Given the description of an element on the screen output the (x, y) to click on. 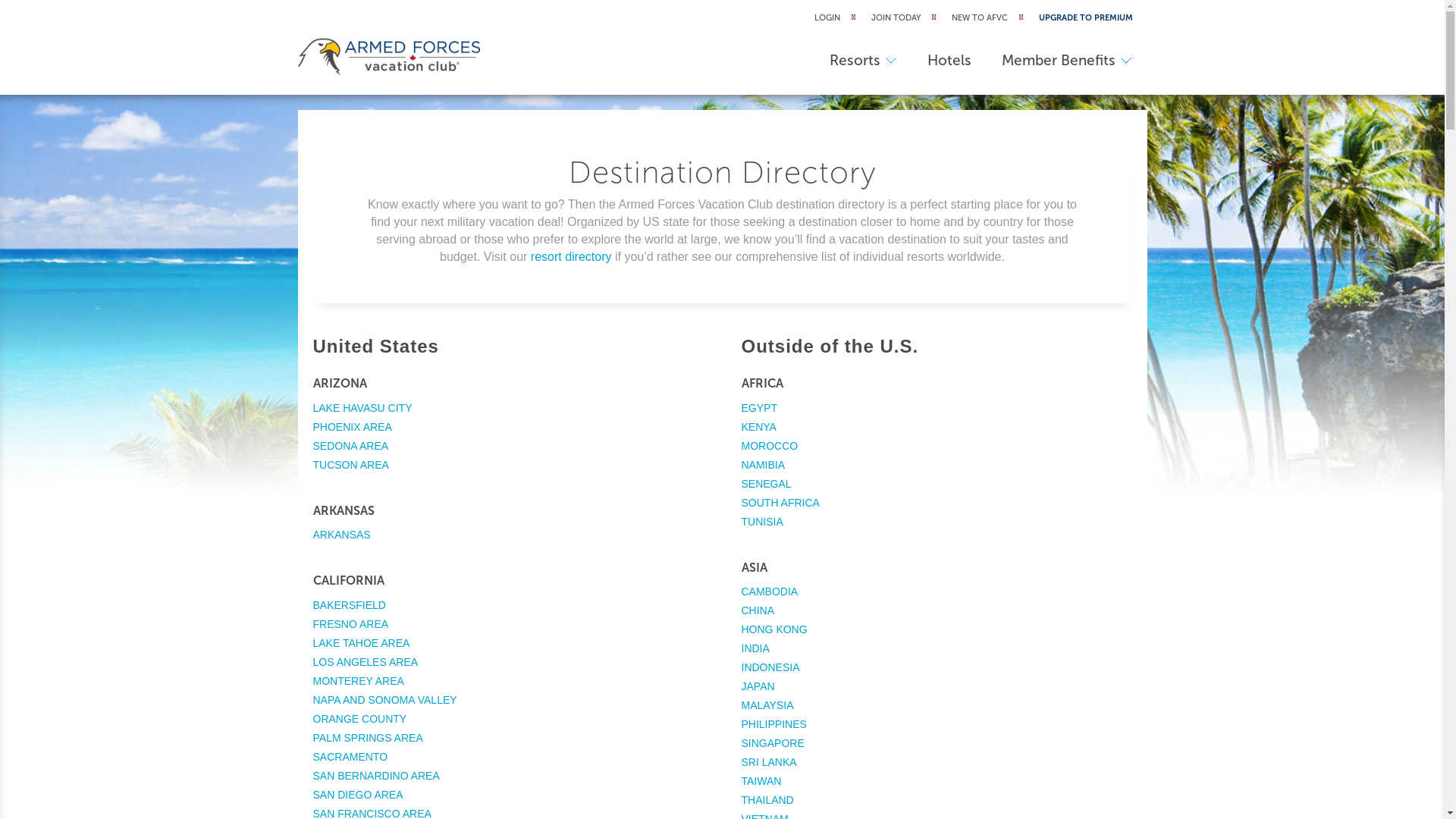
ORANGE COUNTY Element type: text (359, 718)
MOROCCO Element type: text (769, 445)
PALM SPRINGS AREA Element type: text (367, 737)
SOUTH AFRICA Element type: text (780, 501)
Member Benefits Element type: text (1066, 60)
SRI LANKA Element type: text (769, 762)
BAKERSFIELD Element type: text (348, 605)
SAN BERNARDINO AREA Element type: text (375, 775)
TAIWAN Element type: text (761, 781)
FRESNO AREA Element type: text (350, 624)
UPGRADE TO PREMIUM Element type: text (1085, 17)
MONTEREY AREA Element type: text (357, 680)
CHINA Element type: text (758, 610)
Hotels Element type: text (949, 60)
HONG KONG Element type: text (774, 629)
NEW TO AFVC Element type: text (978, 17)
SENEGAL Element type: text (766, 483)
JAPAN Element type: text (758, 686)
JOIN TODAY Element type: text (894, 17)
LAKE HAVASU CITY Element type: text (361, 407)
INDIA Element type: text (755, 648)
resort directory Element type: text (570, 256)
MALAYSIA Element type: text (767, 705)
ARKANSAS Element type: text (341, 534)
SEDONA AREA Element type: text (350, 445)
INDONESIA Element type: text (770, 667)
LAKE TAHOE AREA Element type: text (360, 643)
THAILAND Element type: text (767, 799)
LOGIN Element type: text (827, 17)
TUNISIA Element type: text (762, 521)
KENYA Element type: text (758, 426)
PHOENIX AREA Element type: text (351, 426)
Resorts Element type: text (863, 60)
NAMIBIA Element type: text (763, 464)
CAMBODIA Element type: text (769, 591)
PHILIPPINES Element type: text (773, 724)
LOS ANGELES AREA Element type: text (364, 661)
SAN DIEGO AREA Element type: text (357, 794)
SINGAPORE Element type: text (772, 743)
NAPA AND SONOMA VALLEY Element type: text (384, 699)
TUCSON AREA Element type: text (350, 464)
SACRAMENTO Element type: text (349, 756)
EGYPT Element type: text (759, 407)
